Given the description of an element on the screen output the (x, y) to click on. 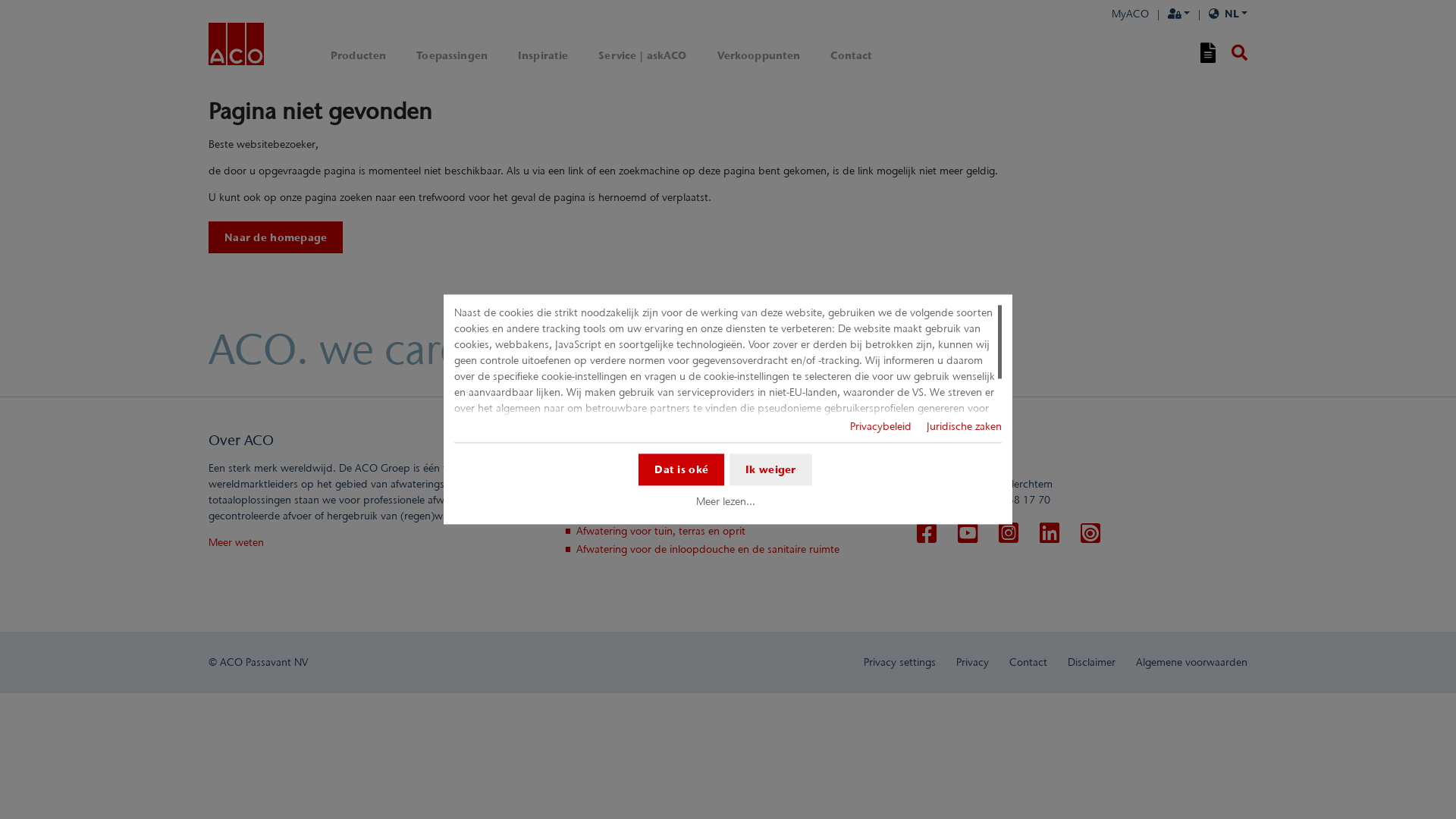
Contacteer ons en/of schrijf je in voor de nieuwsbrief Element type: text (700, 467)
www.facebook.com Element type: hover (926, 533)
Producten Element type: text (357, 55)
Over ACO Element type: text (240, 439)
ACO Element type: hover (235, 43)
www.youtube.com Element type: hover (967, 533)
Afwatering voor de inloopdouche en de sanitaire ruimte Element type: text (707, 548)
Privacybeleid Element type: text (880, 426)
Meer lezen... Element type: text (725, 501)
Inspiratie Element type: text (542, 55)
Klantenservice Element type: text (607, 439)
Disclaimer Element type: text (1091, 661)
MyACO Element type: text (1129, 13)
Juridische zaken Element type: text (963, 426)
Privacy settings Element type: text (899, 661)
YouTube Element type: hover (967, 532)
Meer weten Element type: text (235, 542)
Service | askACO Element type: text (641, 55)
Contact Element type: text (850, 55)
Naar de homepage Element type: text (275, 237)
issuu.com Element type: hover (1090, 533)
Algemene voorwaarden Element type: text (1191, 661)
Verkooppunten Element type: text (758, 55)
Privacy Element type: text (972, 661)
Contact Element type: text (936, 439)
ACO Element type: hover (235, 46)
www.instagram.com Element type: hover (1008, 533)
NL Element type: text (1227, 13)
www.linkedin.com Element type: hover (1049, 533)
Instagram Element type: hover (1008, 532)
Facebook Element type: hover (926, 532)
LinkedIn Element type: hover (1049, 532)
Toepassingen Element type: text (451, 55)
Ik weiger Element type: text (770, 469)
Contact Element type: text (1028, 661)
Afwatering voor tuin, terras en oprit Element type: text (660, 530)
